Given the description of an element on the screen output the (x, y) to click on. 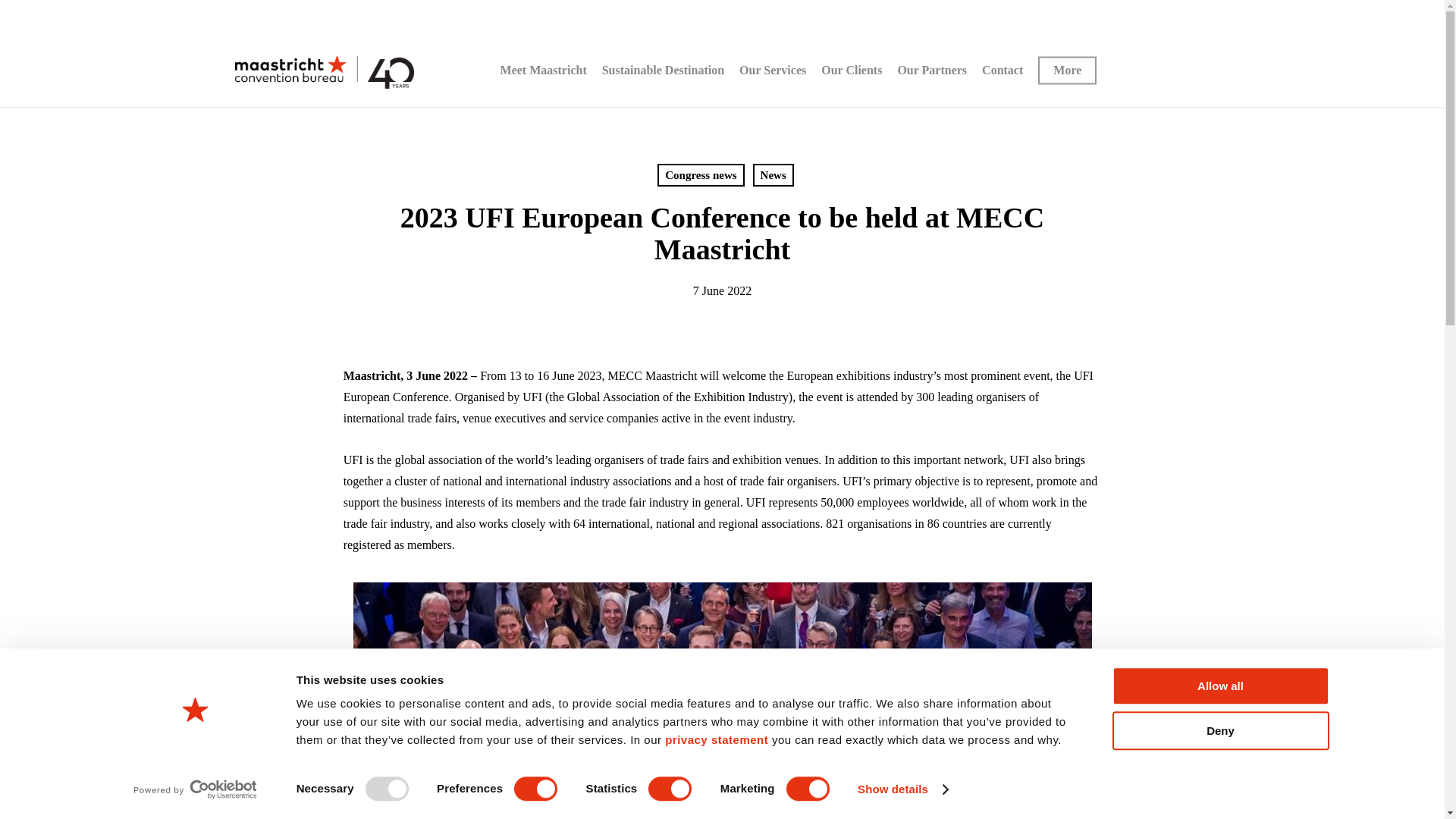
privacy statement (716, 739)
Show details (902, 789)
